Given the description of an element on the screen output the (x, y) to click on. 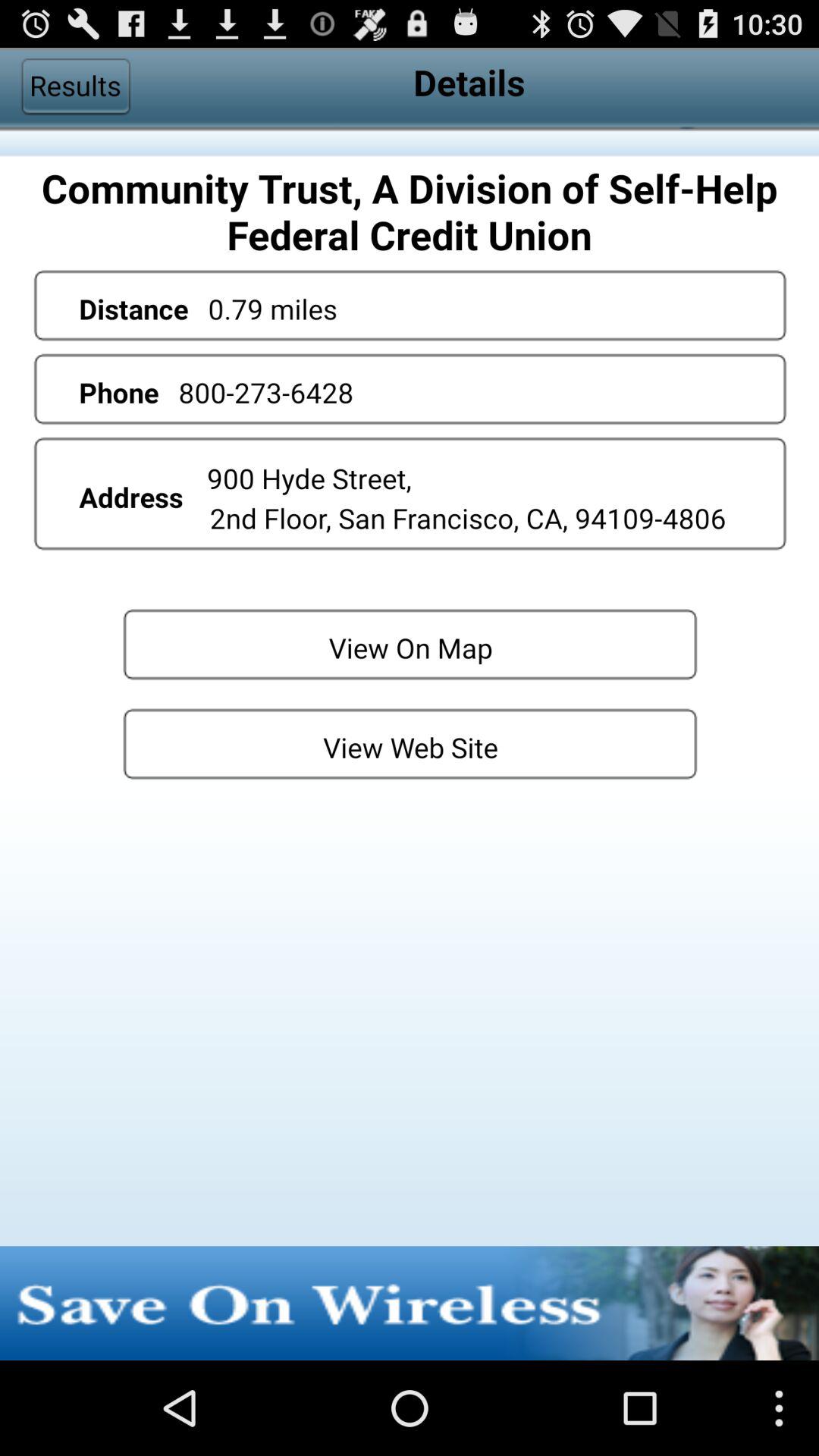
turn on icon below the 2nd floor san item (409, 643)
